Given the description of an element on the screen output the (x, y) to click on. 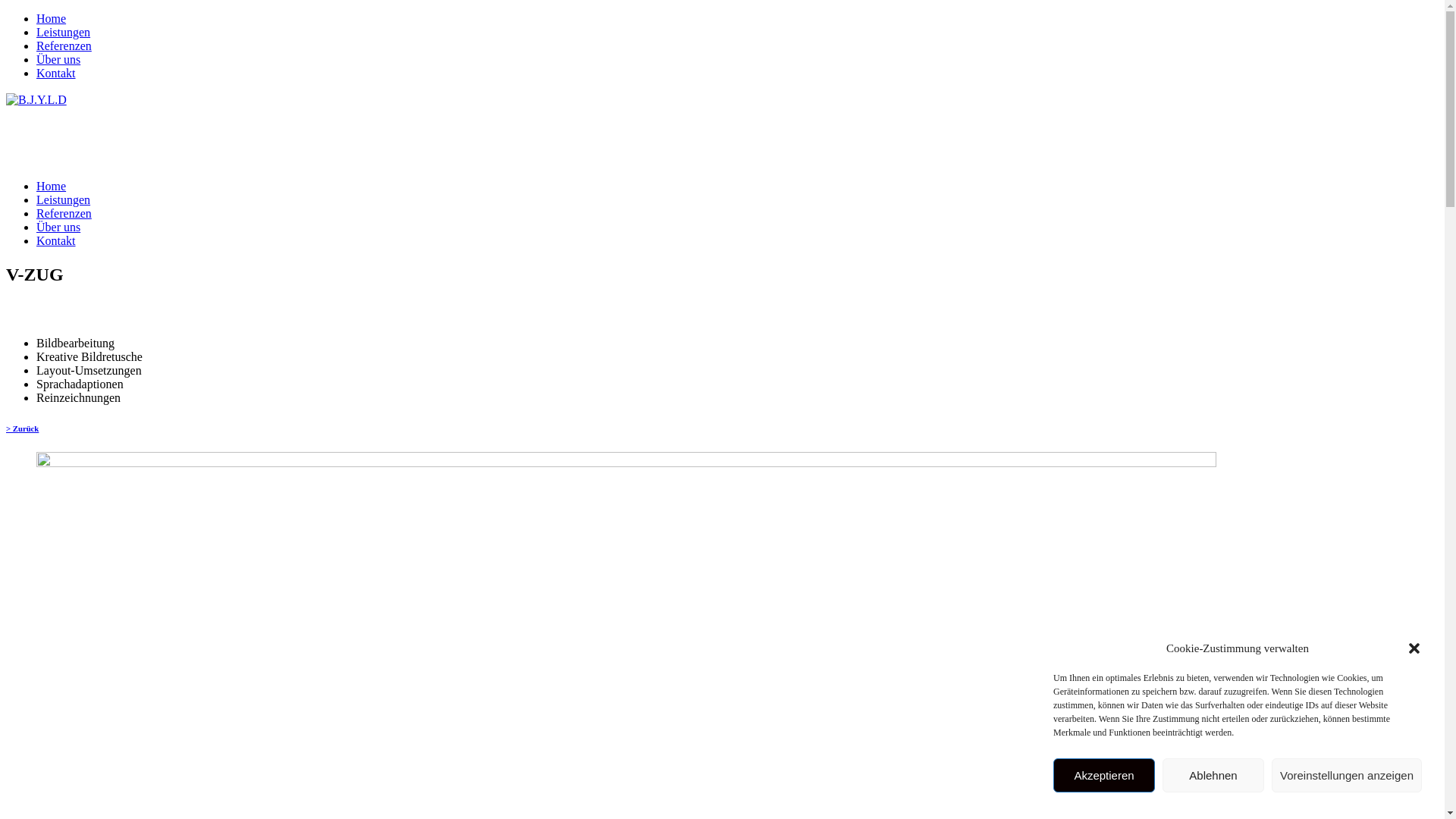
Leistungen Element type: text (63, 31)
Referenzen Element type: text (63, 45)
Akzeptieren Element type: text (1103, 775)
Kontakt Element type: text (55, 72)
Home Element type: text (50, 185)
Ablehnen Element type: text (1213, 775)
Referenzen Element type: text (63, 213)
Home Element type: text (50, 18)
Leistungen Element type: text (63, 199)
Kontakt Element type: text (55, 240)
Voreinstellungen anzeigen Element type: text (1346, 775)
